Given the description of an element on the screen output the (x, y) to click on. 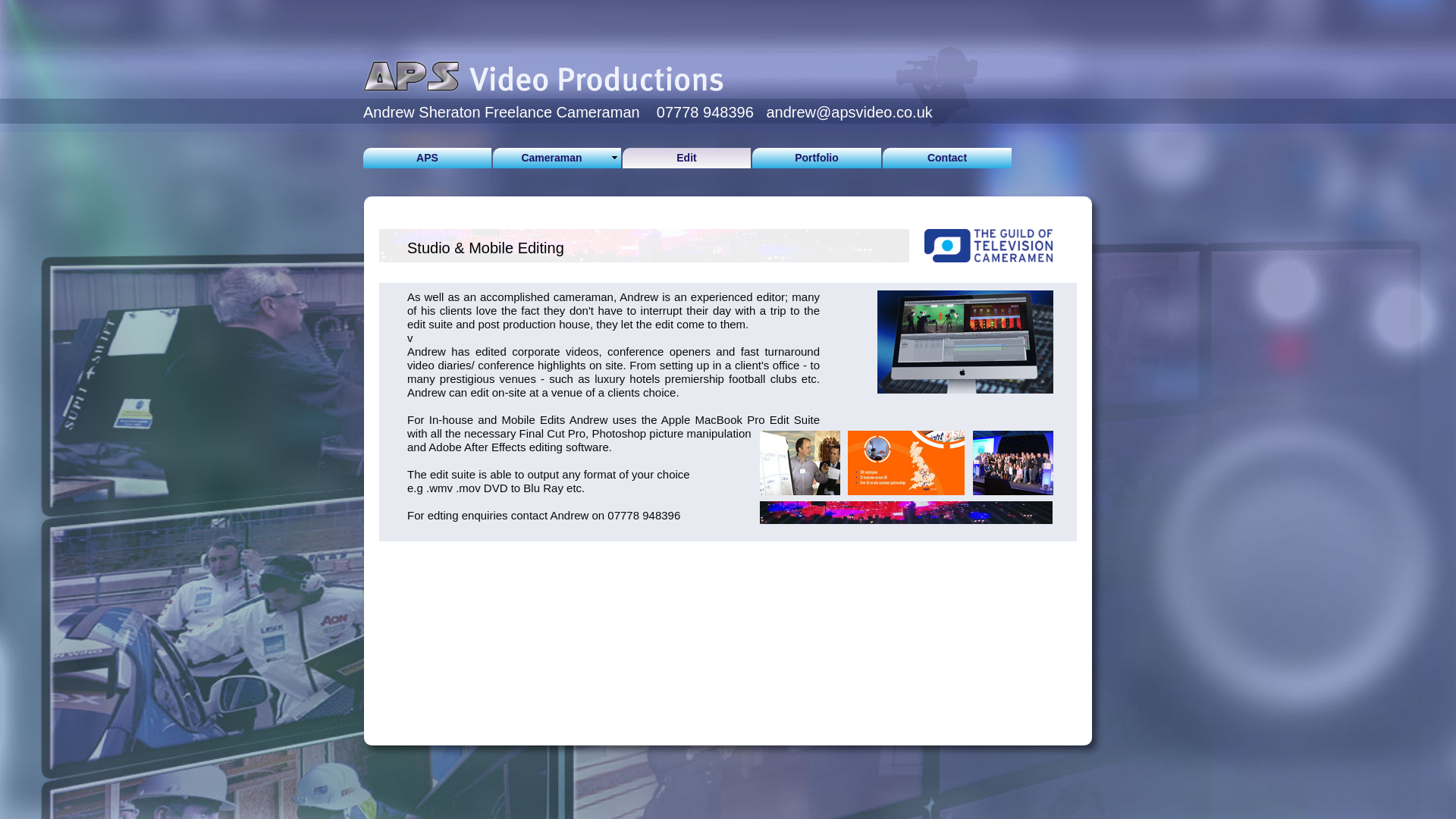
APS (427, 158)
Portfolio (816, 158)
Cameraman (557, 158)
Edit (687, 158)
Contact (946, 158)
